Given the description of an element on the screen output the (x, y) to click on. 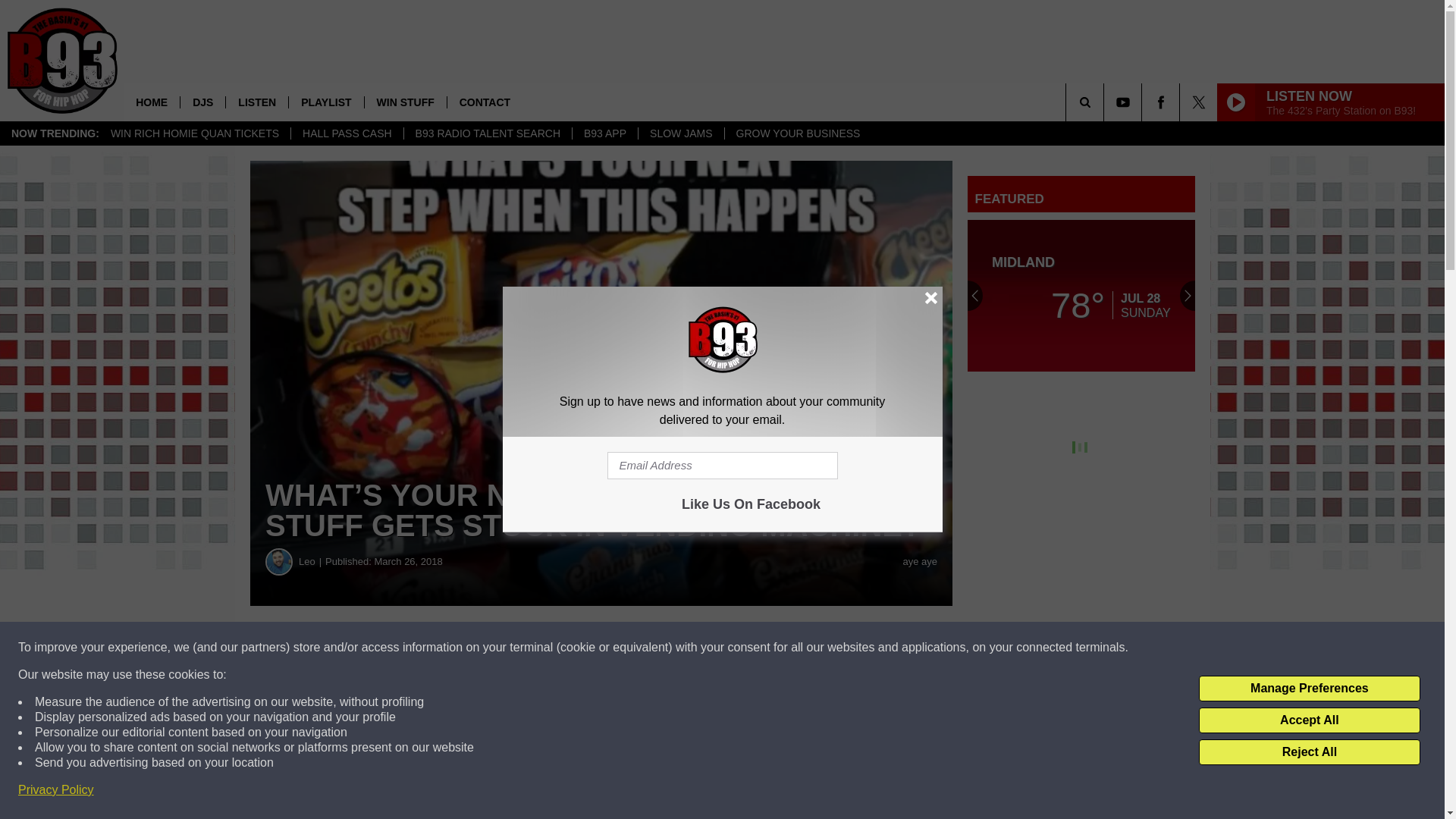
Email Address (722, 465)
WIN STUFF (405, 102)
SLOW JAMS (680, 133)
HOME (151, 102)
Reject All (1309, 751)
Share on Twitter (741, 647)
Share on Facebook (460, 647)
WIN RICH HOMIE QUAN TICKETS (194, 133)
CONTACT (484, 102)
SEARCH (1106, 102)
Manage Preferences (1309, 688)
LISTEN (256, 102)
B93 RADIO TALENT SEARCH (487, 133)
SEARCH (1106, 102)
DJS (202, 102)
